Given the description of an element on the screen output the (x, y) to click on. 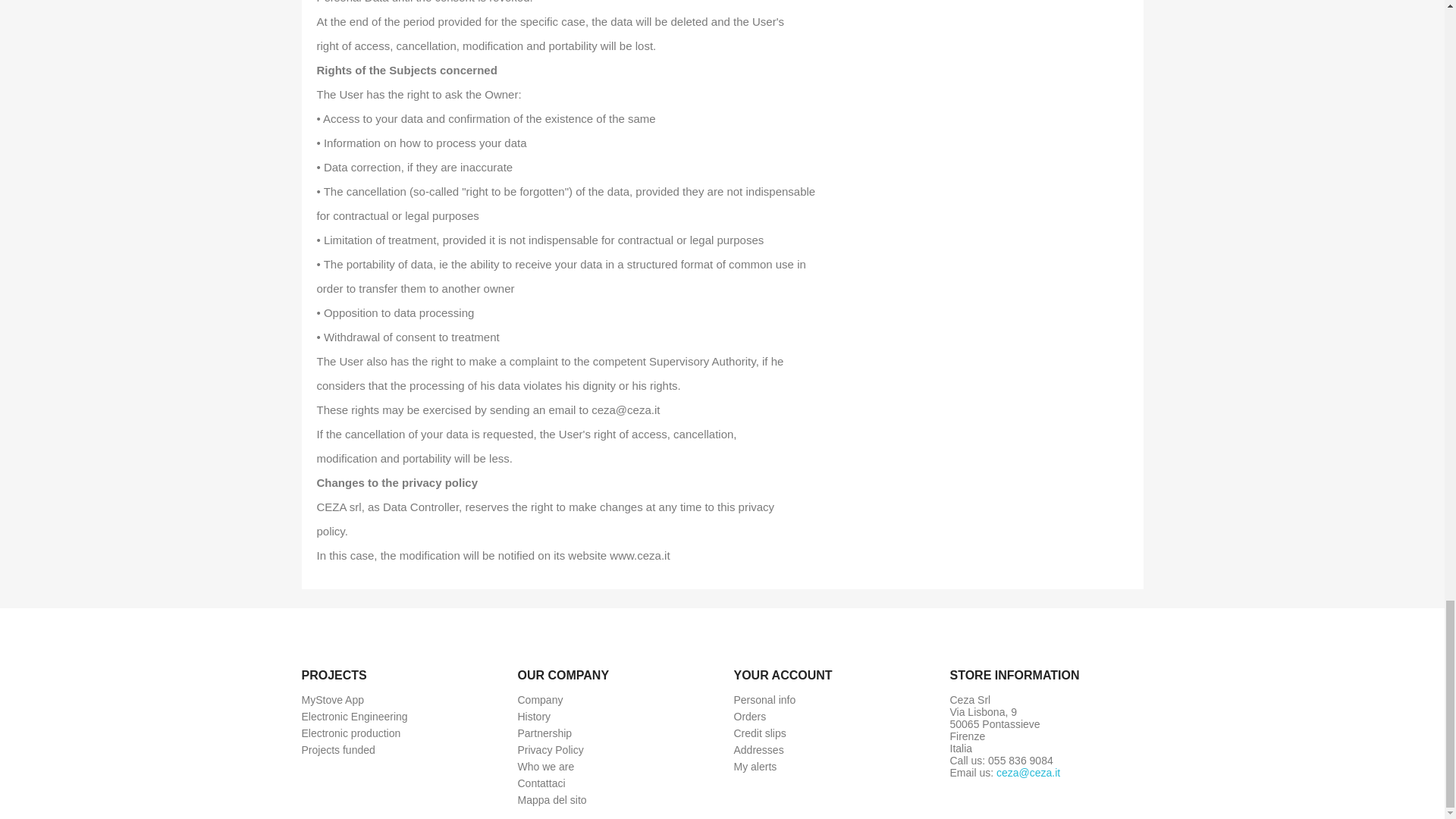
Orders (750, 716)
Personal info (764, 699)
Scoprite chi siamo (539, 699)
Credit slips (759, 733)
Addresses (758, 749)
Electronic Engineering (354, 716)
My alerts (755, 766)
Vi siete persi? Qui potete trovate quello che state cercando (551, 799)
MyStove App (333, 699)
